Given the description of an element on the screen output the (x, y) to click on. 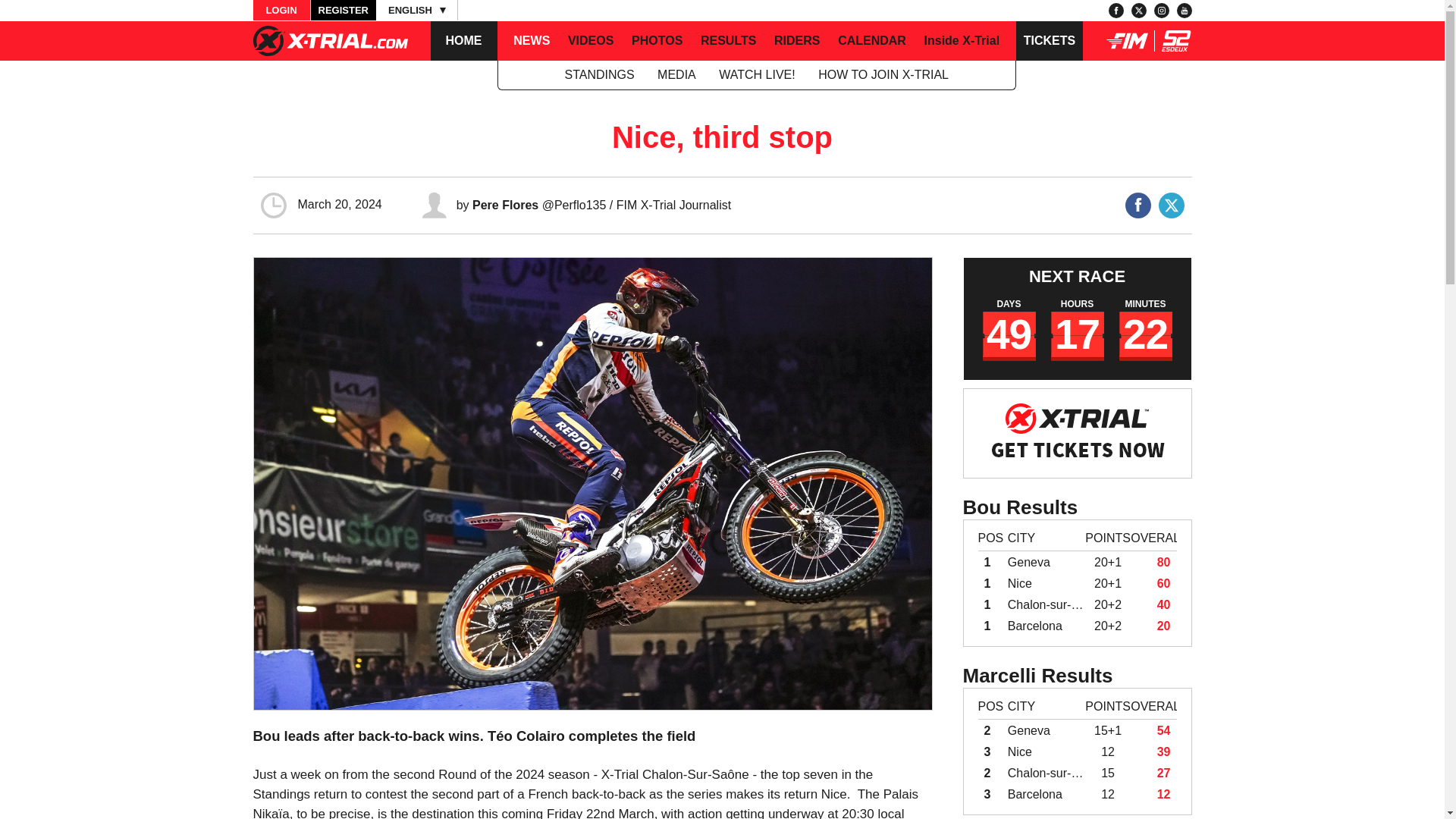
Calendar (871, 40)
Inside X-Trial (962, 40)
MEDIA (676, 74)
HOW TO JOIN X-TRIAL (883, 74)
Login (281, 10)
Photos (656, 40)
STANDINGS (598, 74)
VIDEOS (589, 40)
Esdeux (1176, 47)
Inside X-Trial (962, 40)
